Given the description of an element on the screen output the (x, y) to click on. 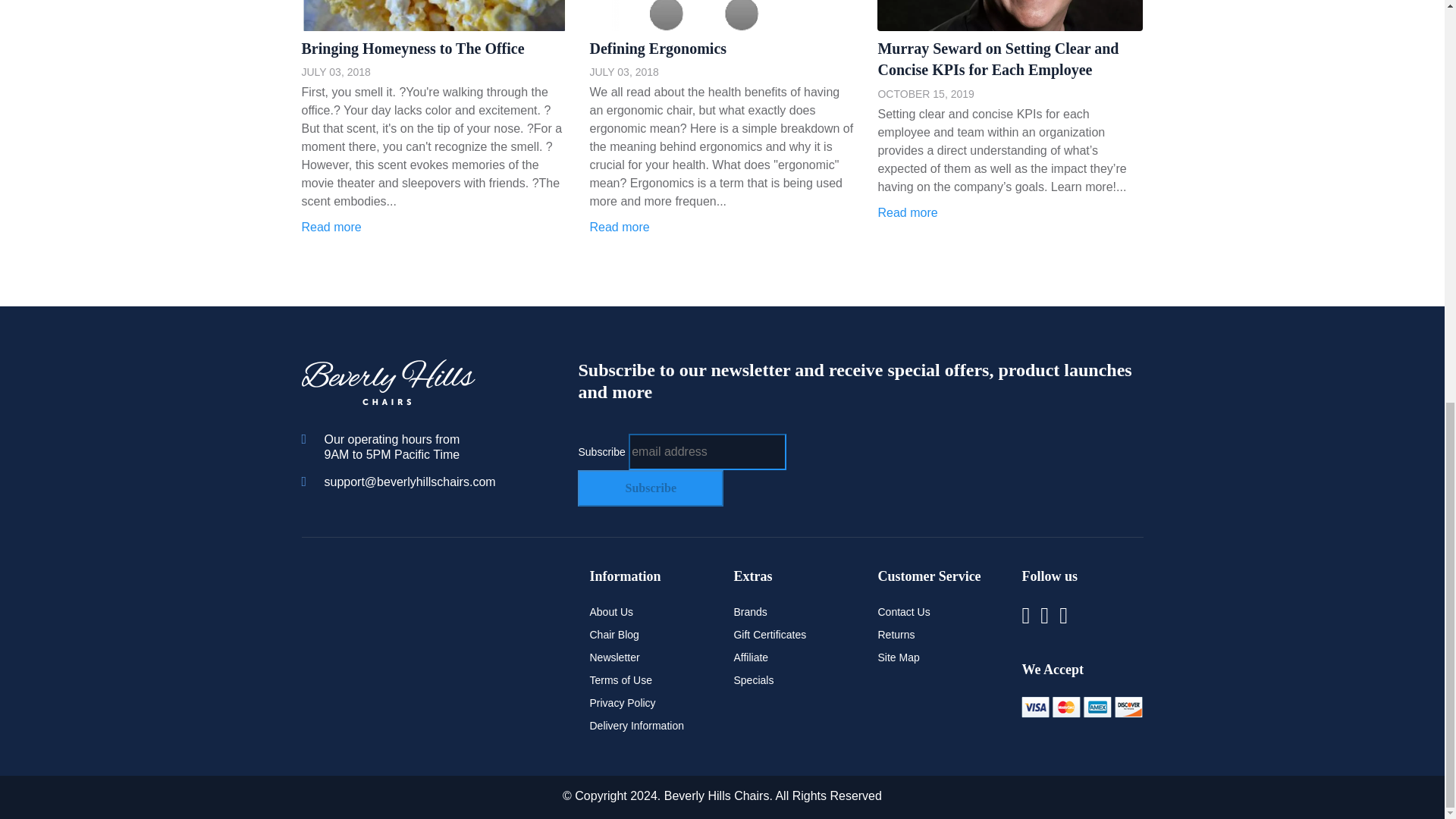
Read more (1009, 208)
Read more (721, 222)
Defining Ergonomics (657, 48)
Subscribe (650, 488)
Bringing Homeyness to The Office (412, 48)
Read more (434, 222)
Credit Card Logos (1082, 707)
